Given the description of an element on the screen output the (x, y) to click on. 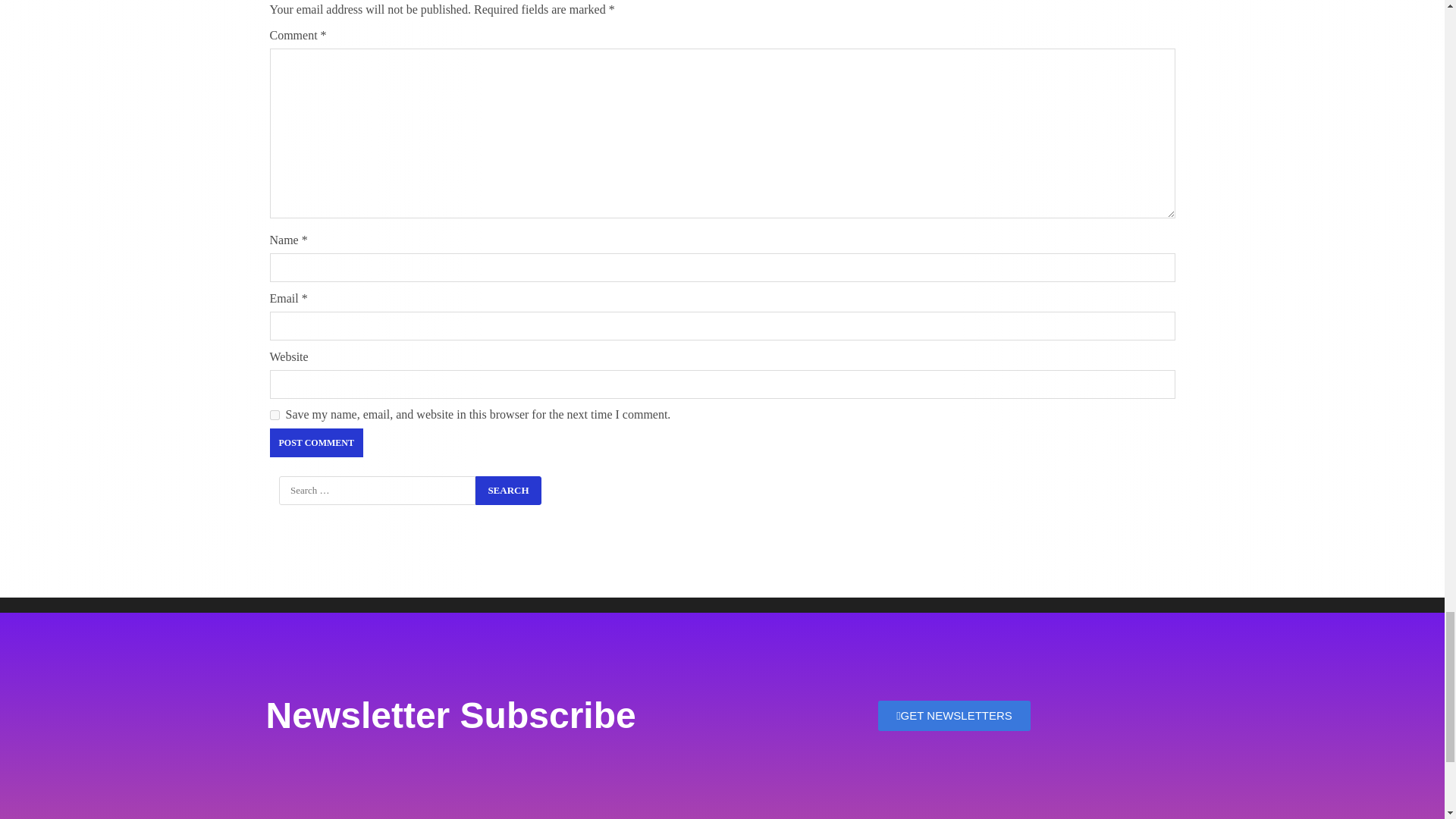
Search (508, 490)
Post Comment (315, 442)
GET NEWSLETTERS (953, 716)
Search (508, 490)
Search (508, 490)
yes (274, 415)
Post Comment (315, 442)
